Given the description of an element on the screen output the (x, y) to click on. 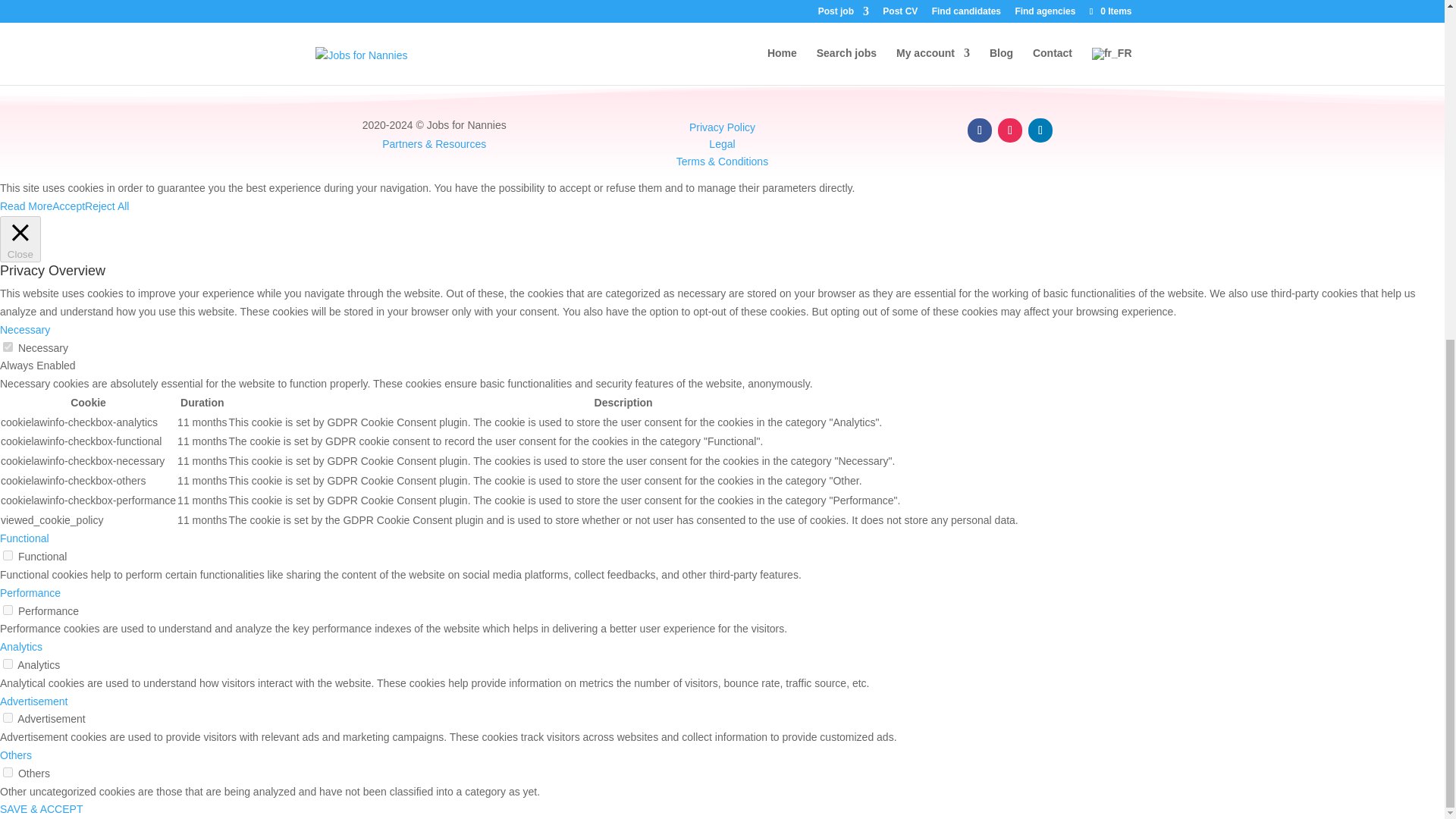
on (7, 664)
Submit Resume (354, 7)
Privacy Policy (721, 127)
on (7, 772)
Accept (68, 207)
Submit Resume (354, 7)
on (7, 610)
Reject All (106, 205)
on (7, 346)
on (7, 555)
